Given the description of an element on the screen output the (x, y) to click on. 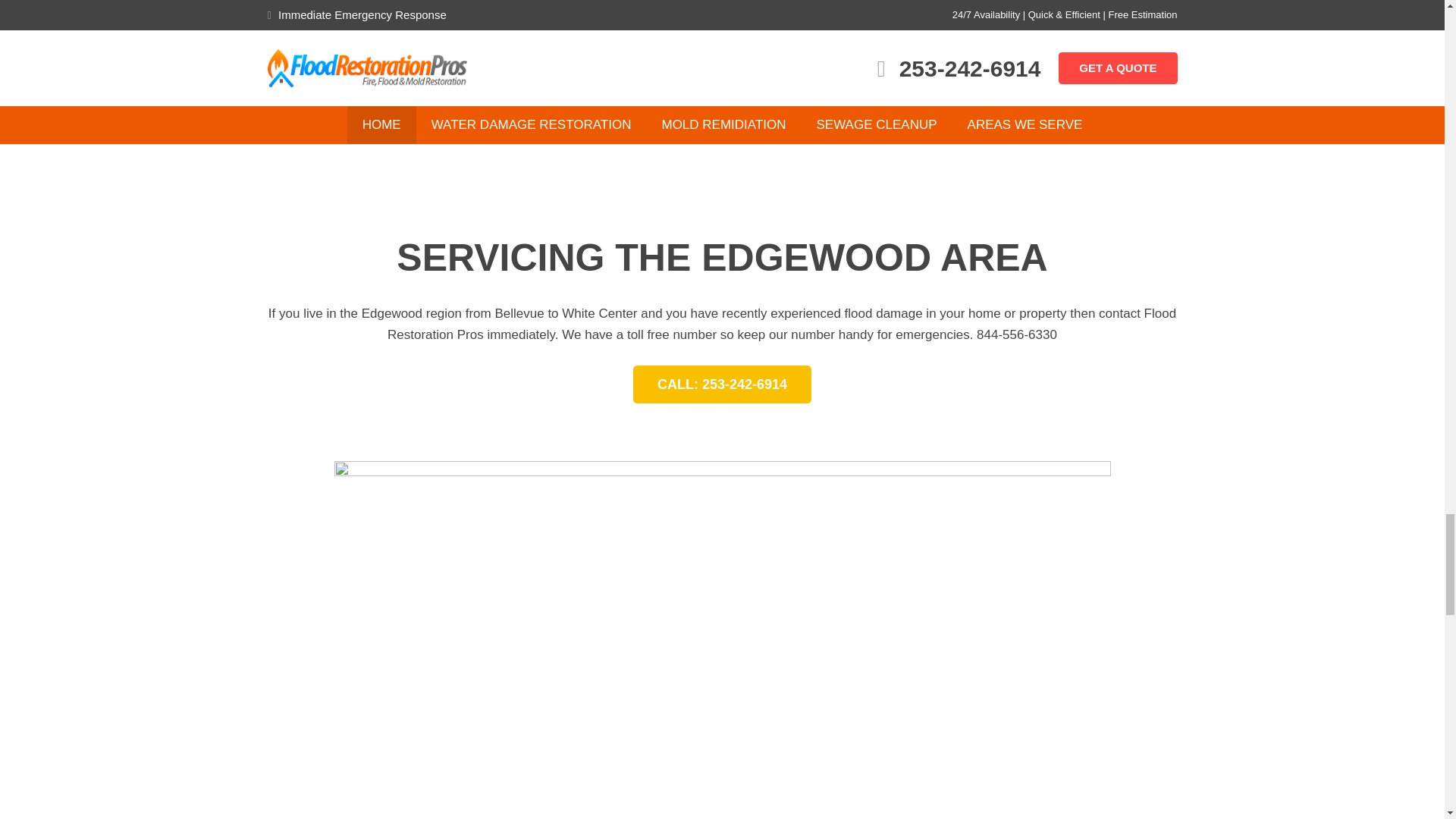
CALL: 253-242-6914 (722, 384)
